Given the description of an element on the screen output the (x, y) to click on. 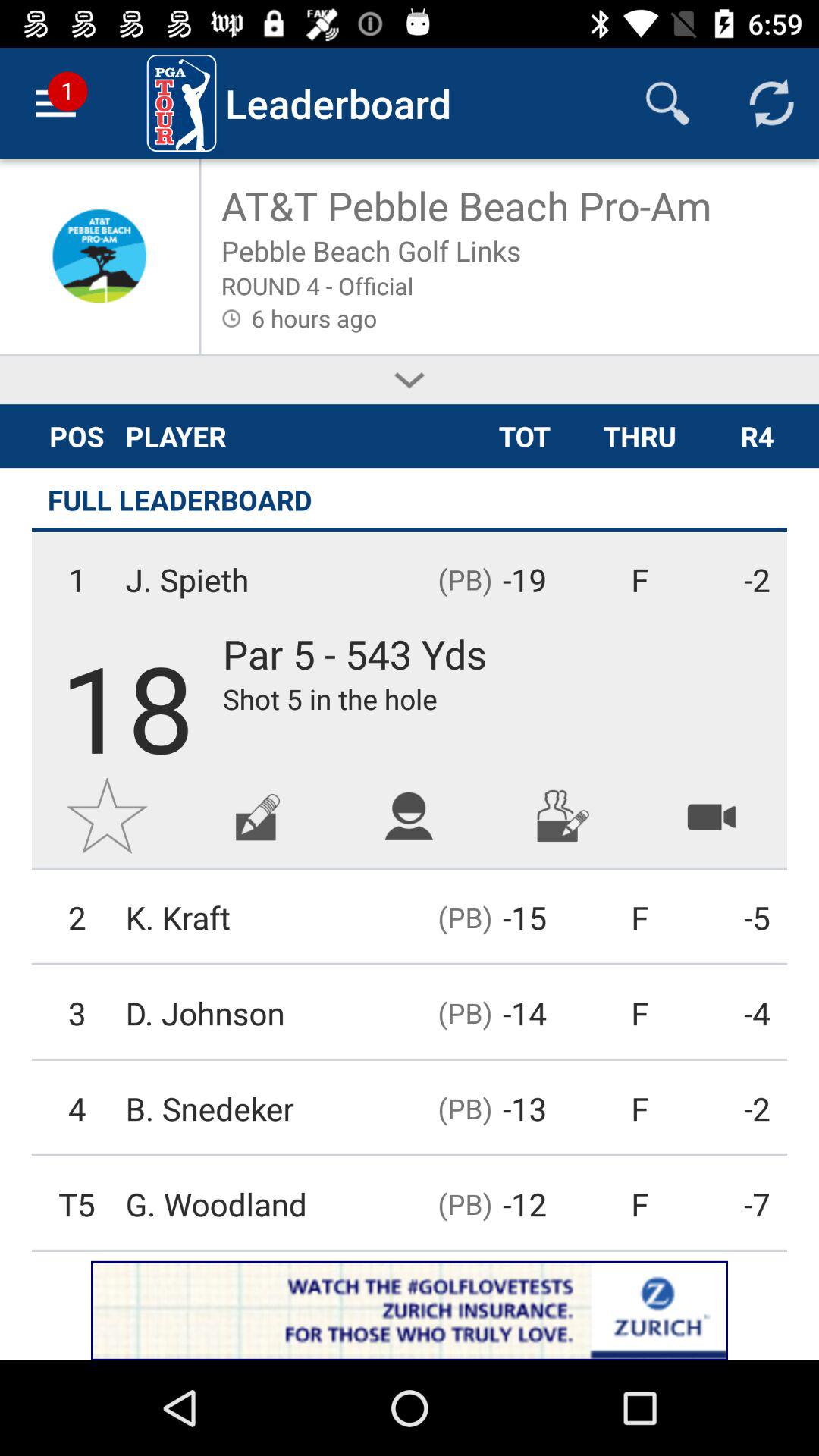
choose this (409, 380)
